Given the description of an element on the screen output the (x, y) to click on. 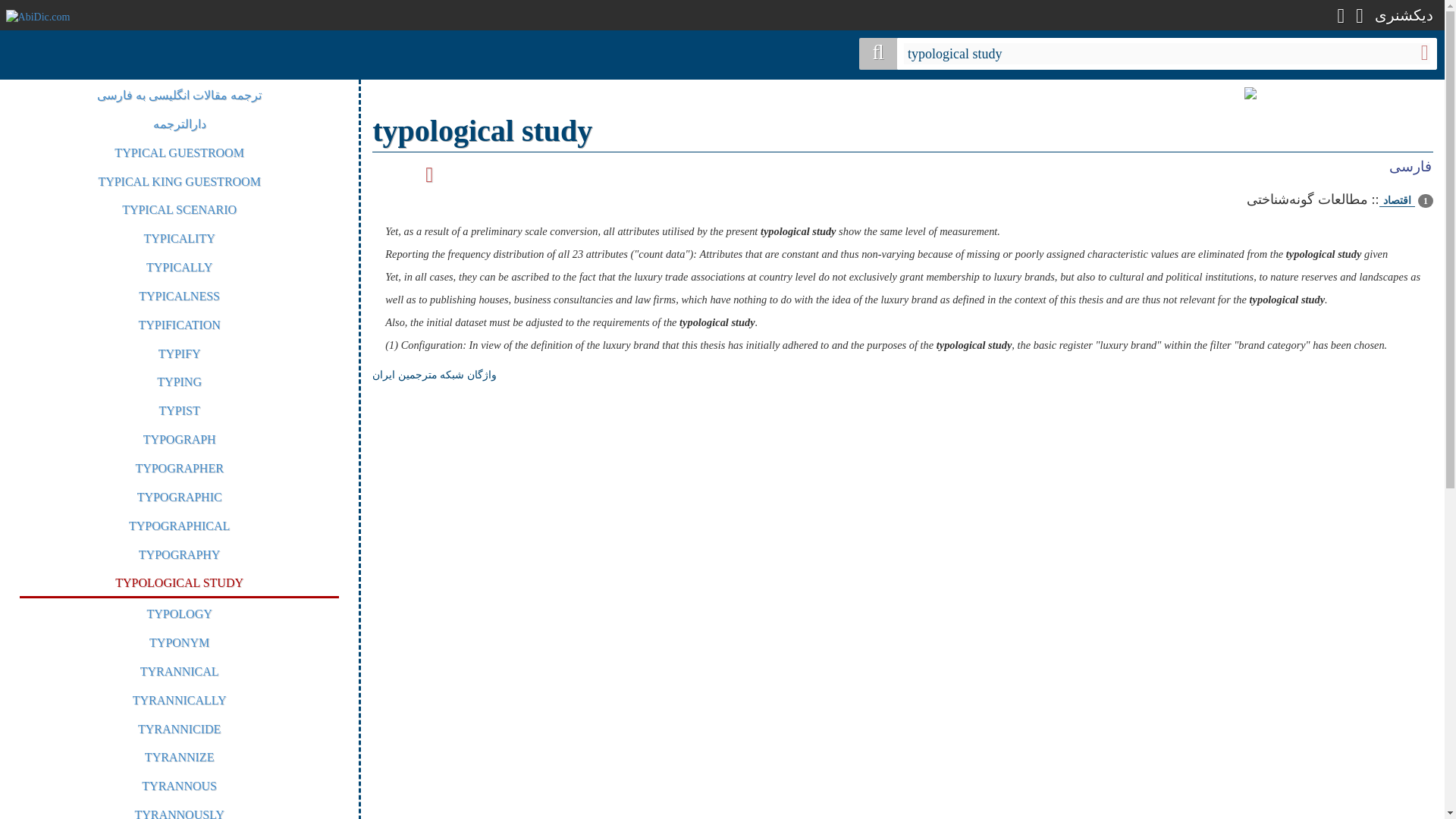
TYPOGRAPHER (178, 468)
TYPICALLY (179, 267)
TYPOGRAPHY (179, 553)
TYPOGRAPHIC (179, 496)
TYPIFICATION (178, 324)
TYPIFY (179, 353)
TYPONYM (179, 642)
TYRANNICAL (179, 671)
TYPOGRAPH (178, 439)
TYPOGRAPHICAL (179, 525)
